Given the description of an element on the screen output the (x, y) to click on. 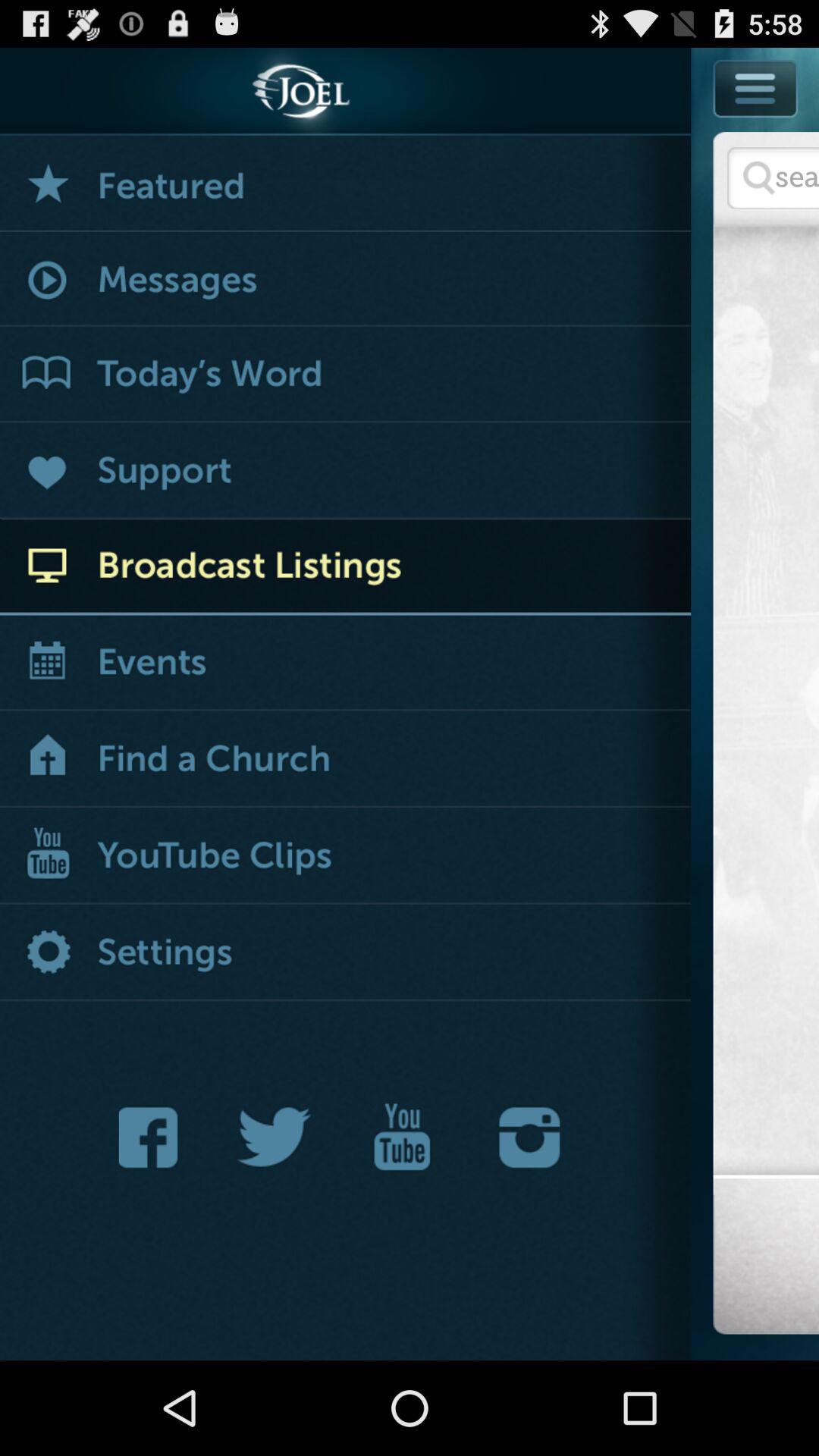
go to joel 's twitter feed (274, 1137)
